Given the description of an element on the screen output the (x, y) to click on. 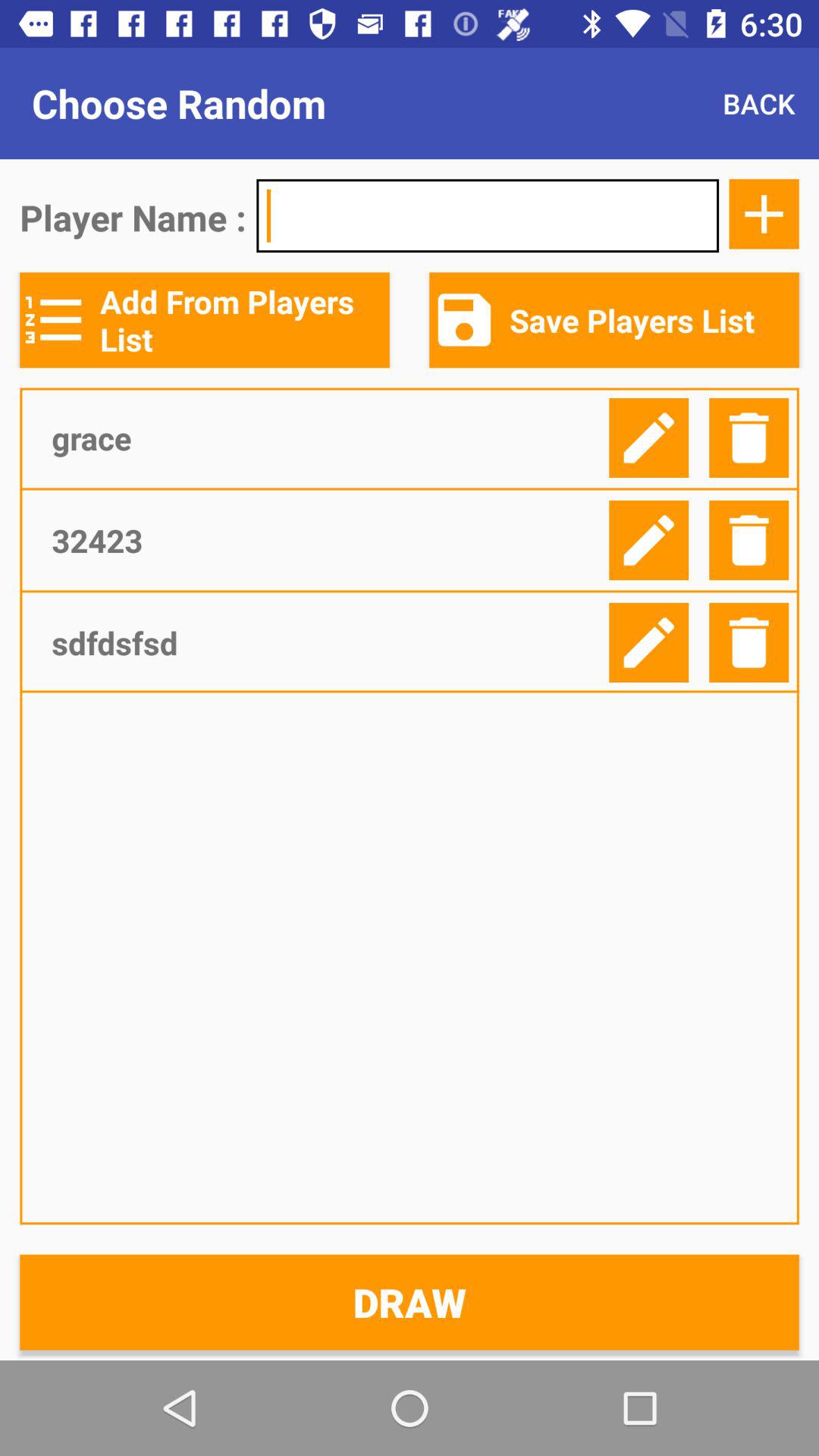
open search bar (487, 215)
